Given the description of an element on the screen output the (x, y) to click on. 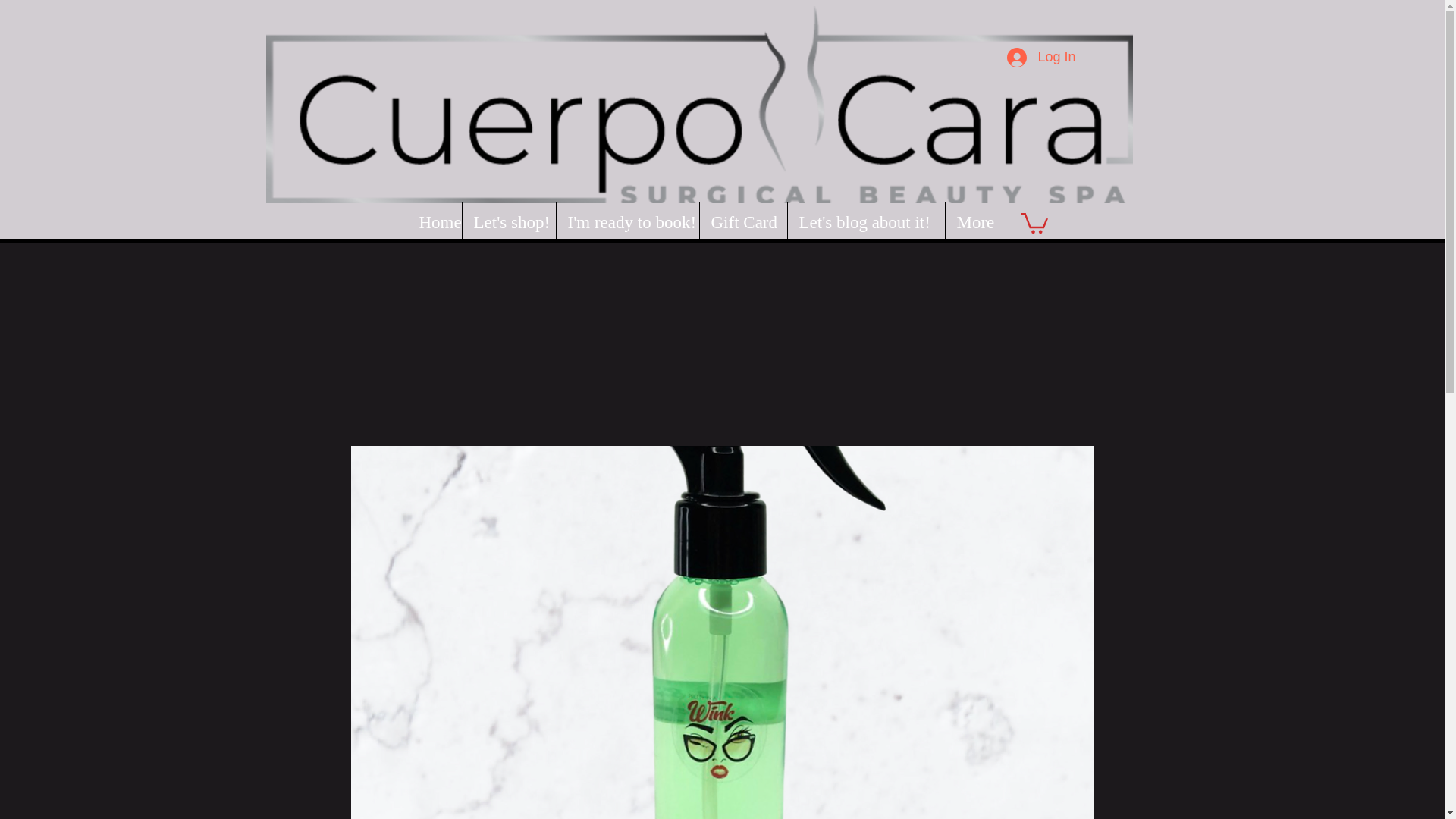
Gift Card (742, 222)
Log In (1040, 57)
Let's shop! (509, 222)
I'm ready to book! (627, 222)
Let's blog about it! (865, 222)
Home (434, 222)
